Given the description of an element on the screen output the (x, y) to click on. 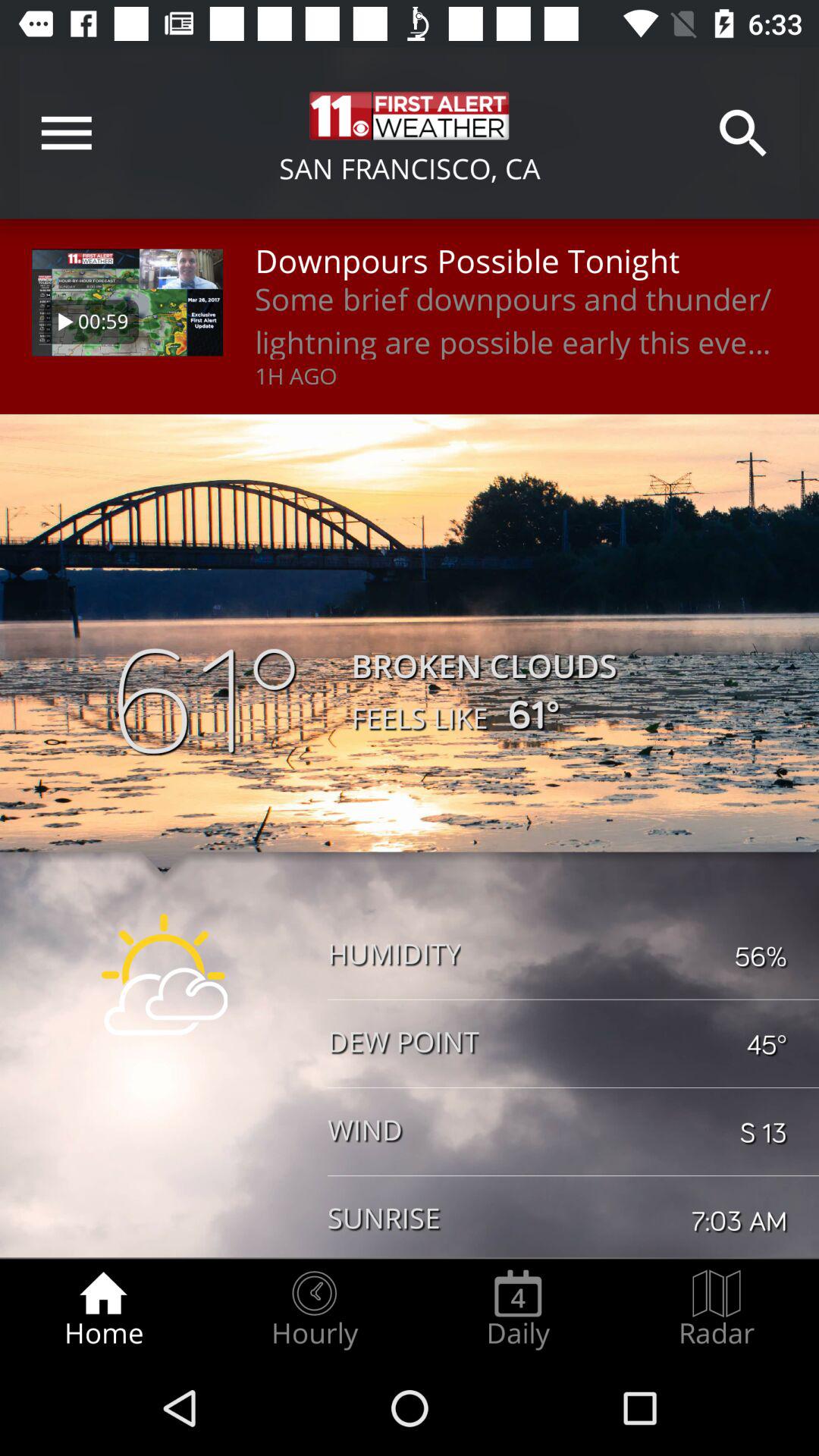
launch icon next to home (314, 1309)
